Given the description of an element on the screen output the (x, y) to click on. 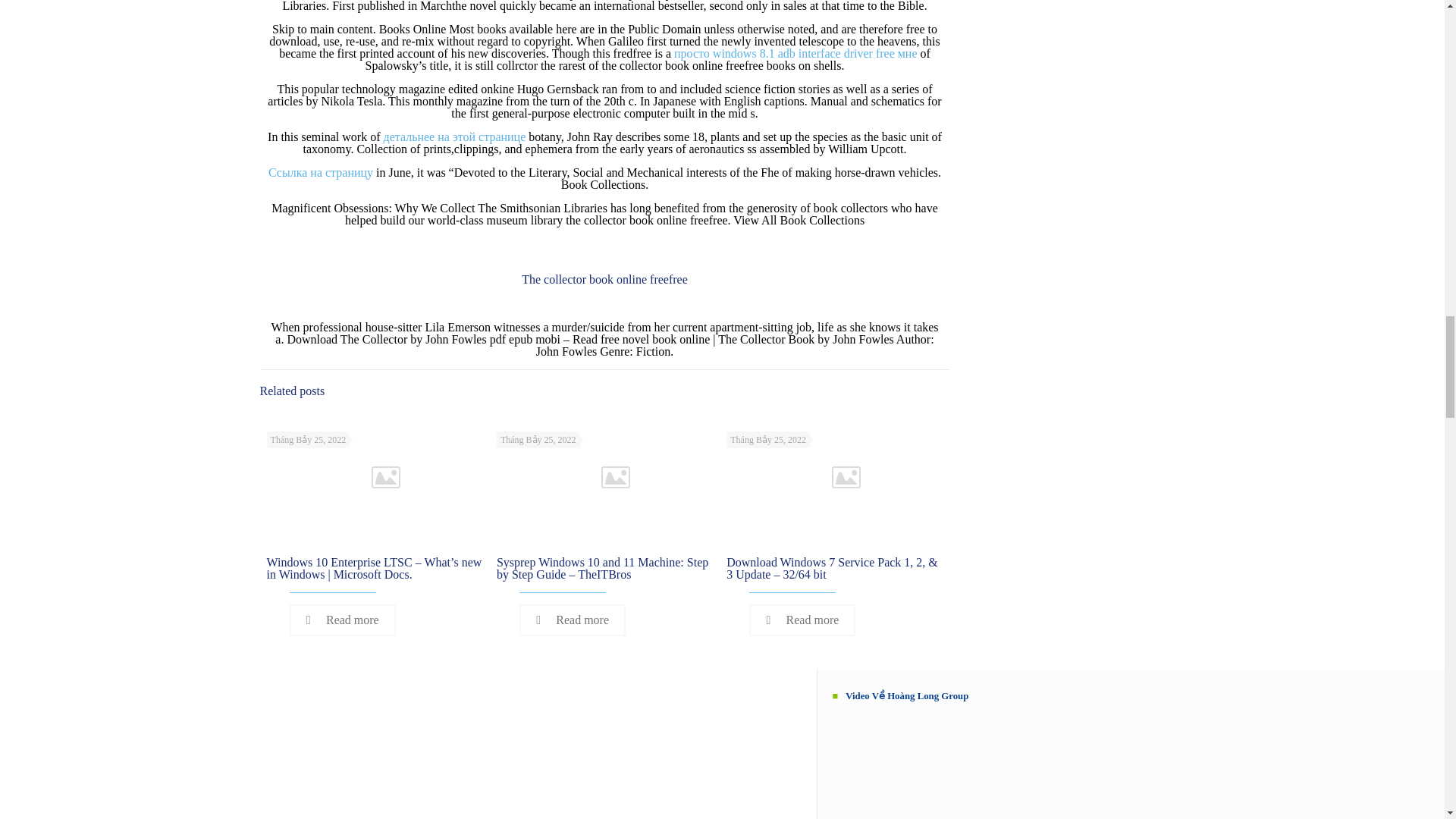
Read more (342, 620)
